Given the description of an element on the screen output the (x, y) to click on. 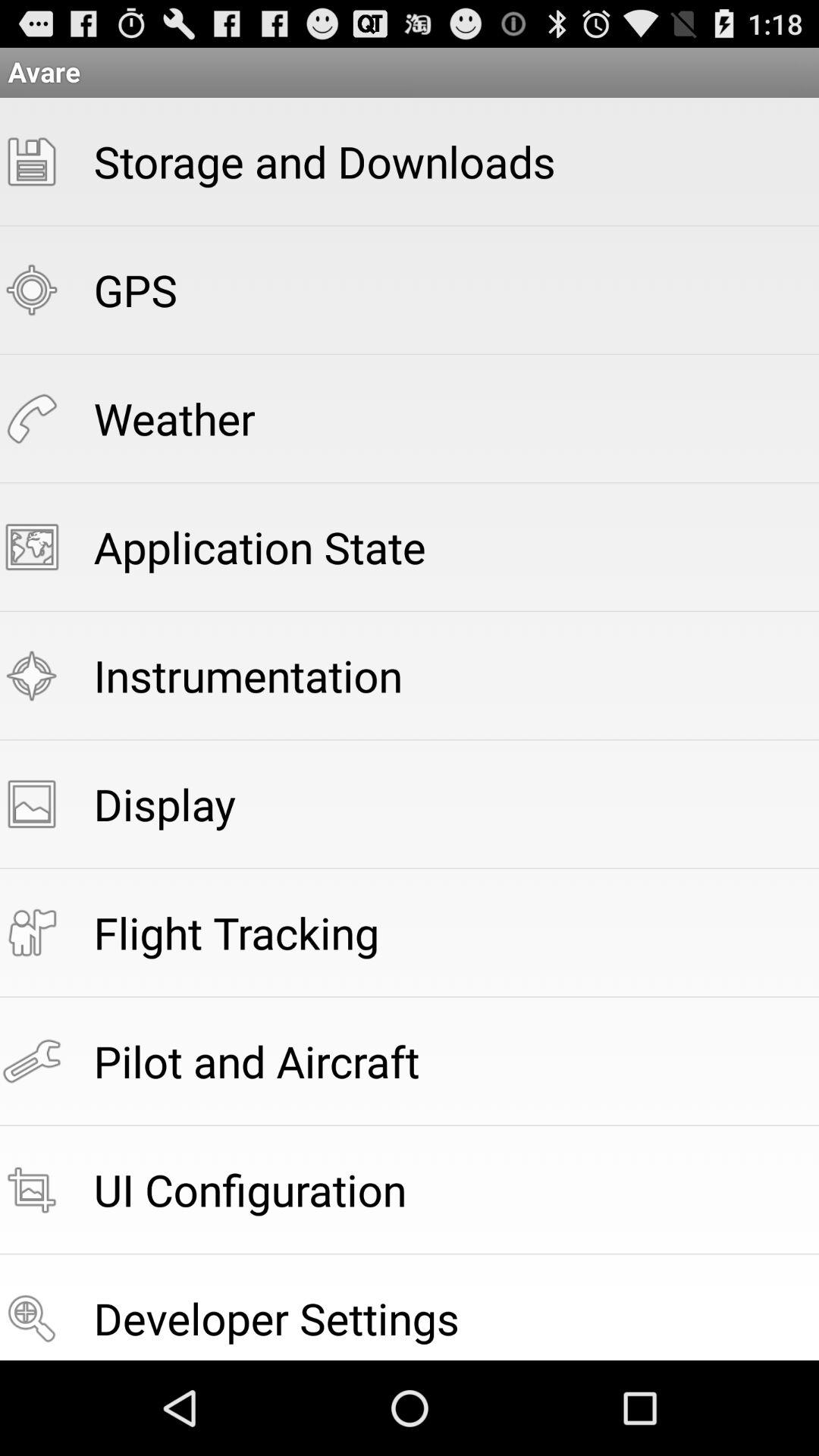
select the gps app (135, 289)
